Given the description of an element on the screen output the (x, y) to click on. 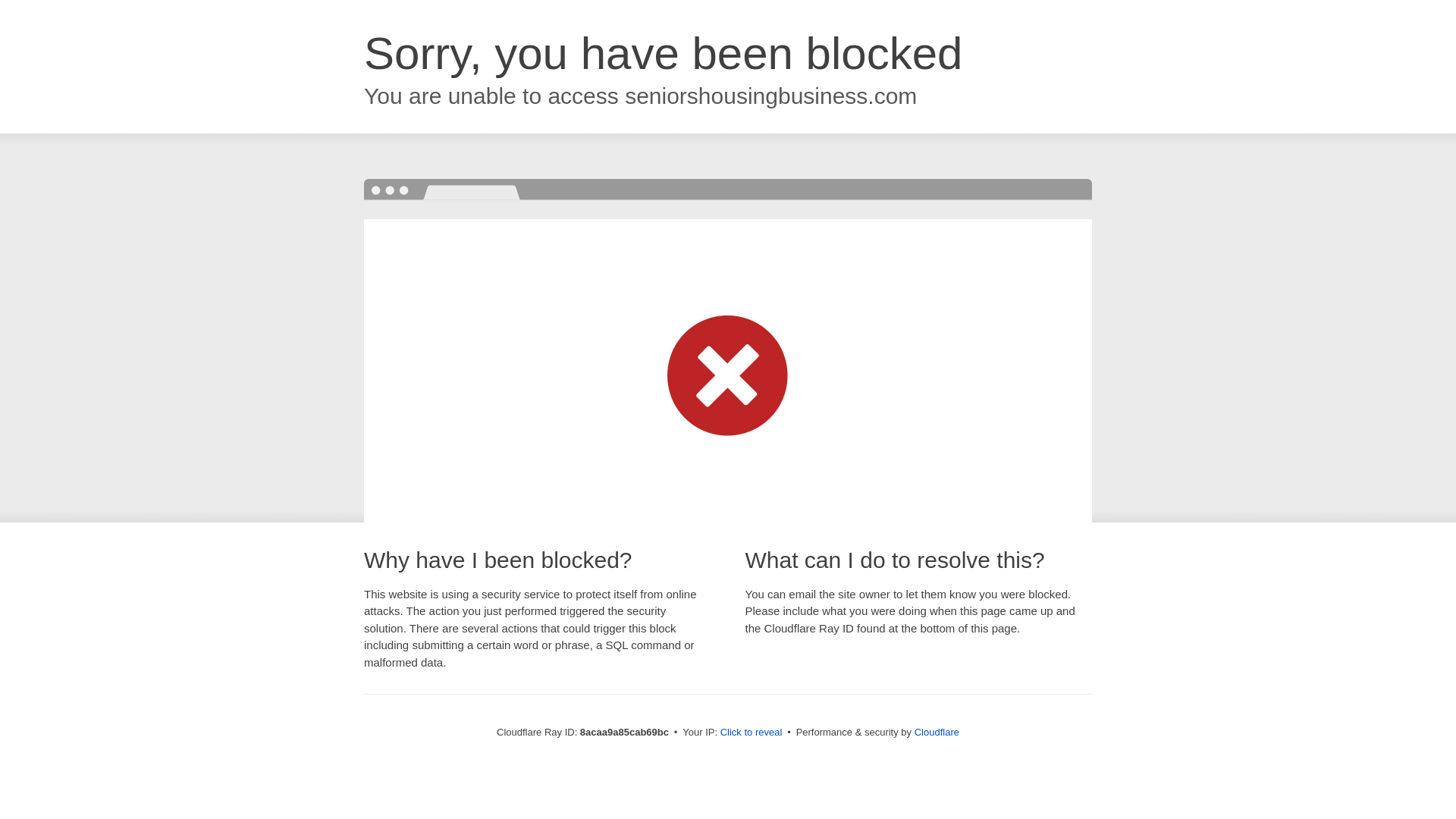
Click to reveal (751, 732)
Cloudflare (936, 731)
